Given the description of an element on the screen output the (x, y) to click on. 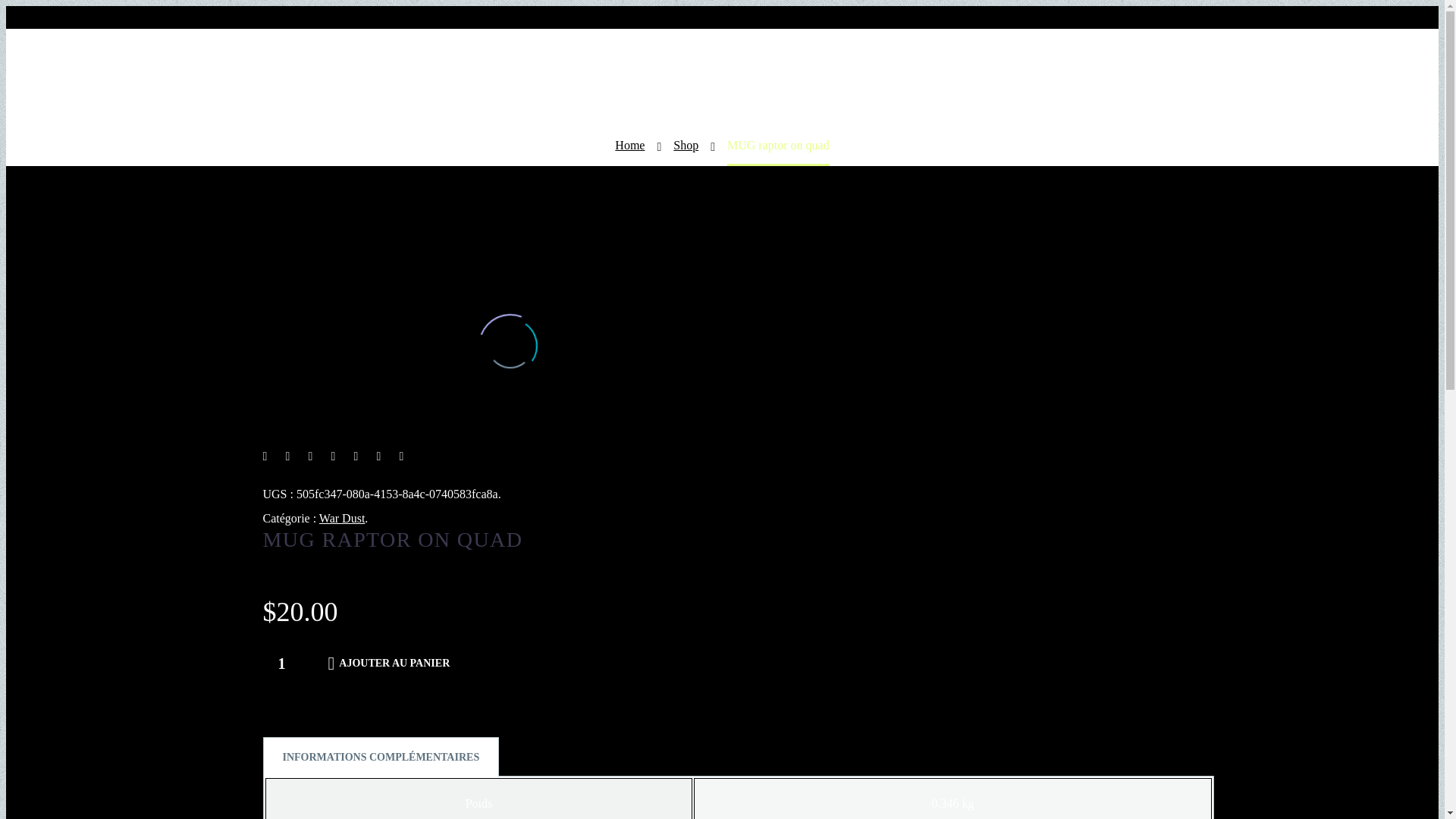
LinkedIn (378, 456)
Tumblr (356, 456)
Twitter (288, 456)
Shop (685, 144)
Pinterest (333, 456)
AJOUTER AU PANIER (389, 663)
Home (629, 144)
StumbleUpon (401, 456)
Google Plus (310, 456)
War Dust (341, 517)
